Given the description of an element on the screen output the (x, y) to click on. 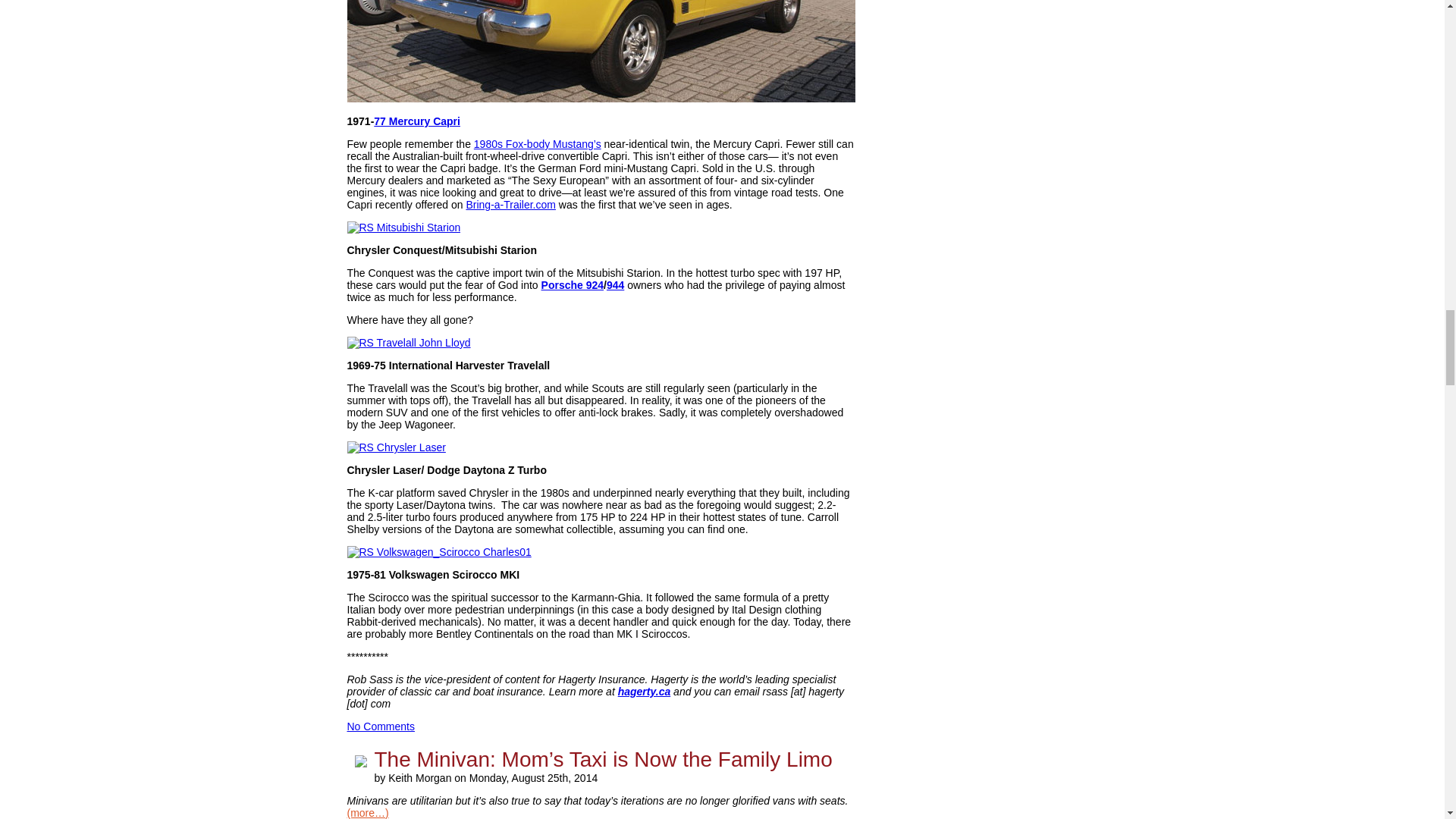
hagerty.ca (644, 691)
Porsche 924 (572, 285)
77 Mercury Capri (417, 121)
Hagerty website (644, 691)
Bring-a-Trailer.com (510, 204)
944 (615, 285)
